Given the description of an element on the screen output the (x, y) to click on. 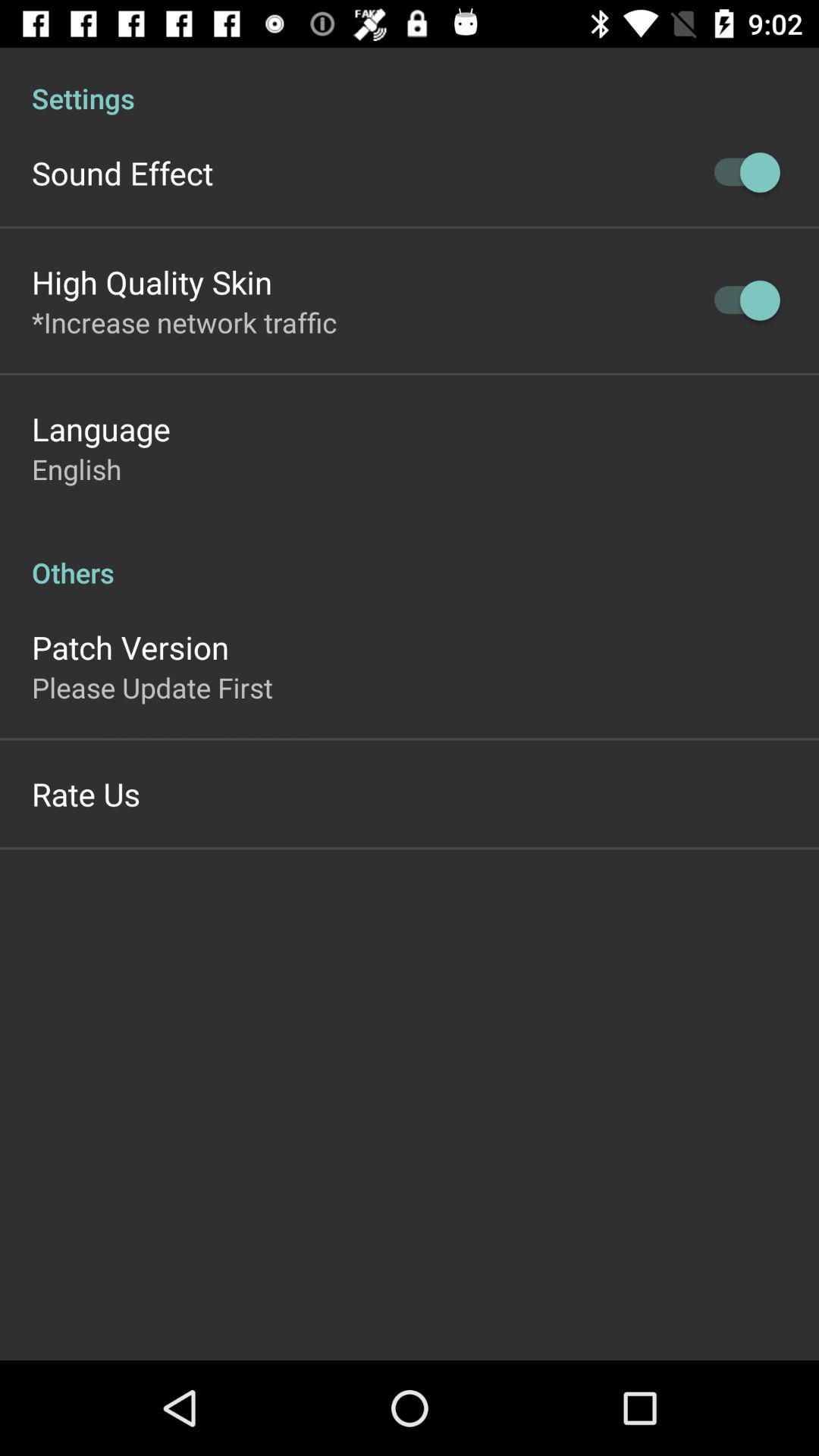
select the item below settings (122, 172)
